Given the description of an element on the screen output the (x, y) to click on. 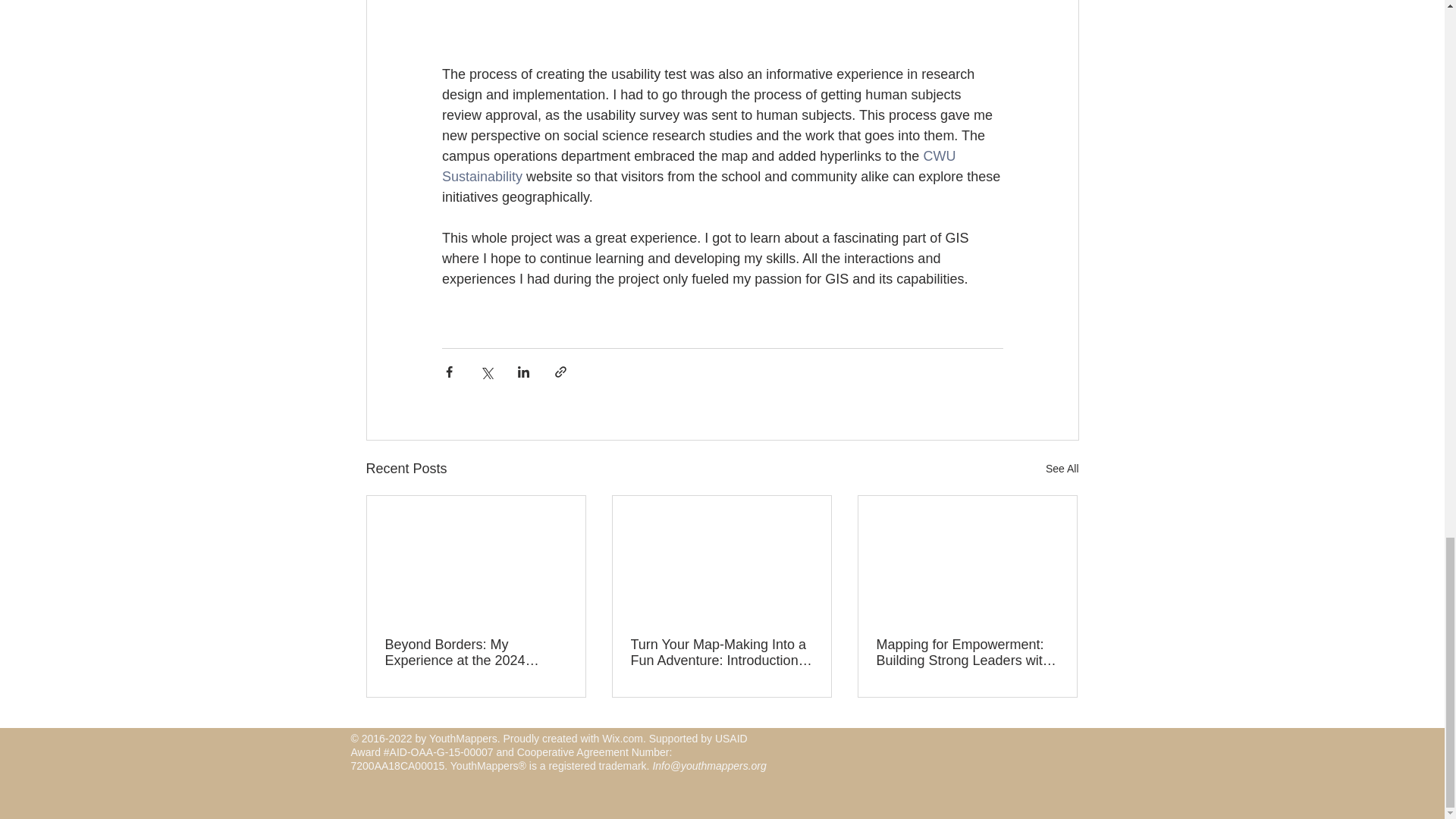
CWU Sustainability (699, 166)
See All (1061, 468)
